Given the description of an element on the screen output the (x, y) to click on. 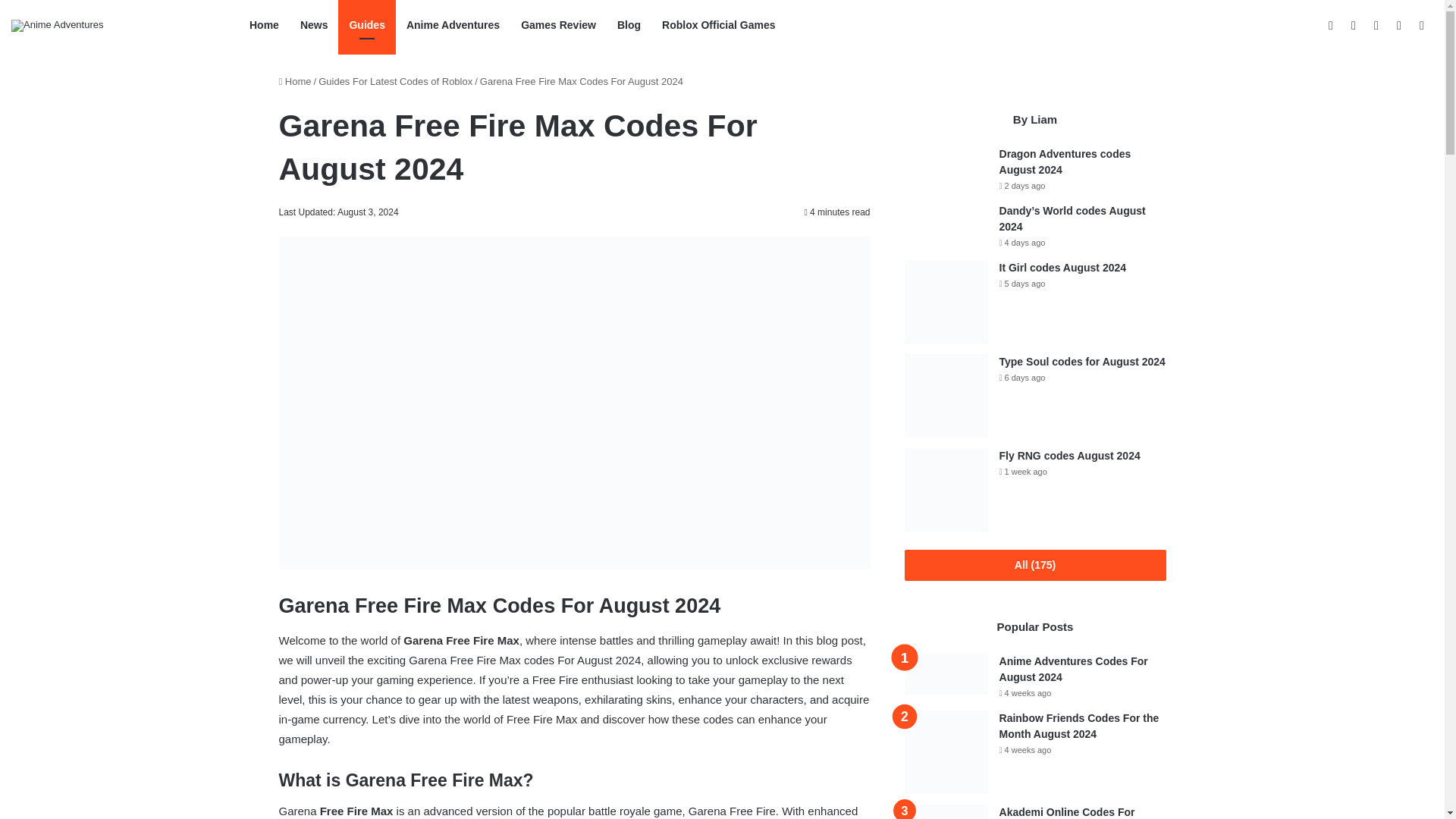
Roblox Official Games (718, 25)
Anime Adventures (453, 25)
Guides For Latest Codes of Roblox (394, 81)
Home (295, 81)
Anime Adventures (57, 25)
Guides (365, 25)
Home (263, 25)
Games Review (559, 25)
News (314, 25)
